Given the description of an element on the screen output the (x, y) to click on. 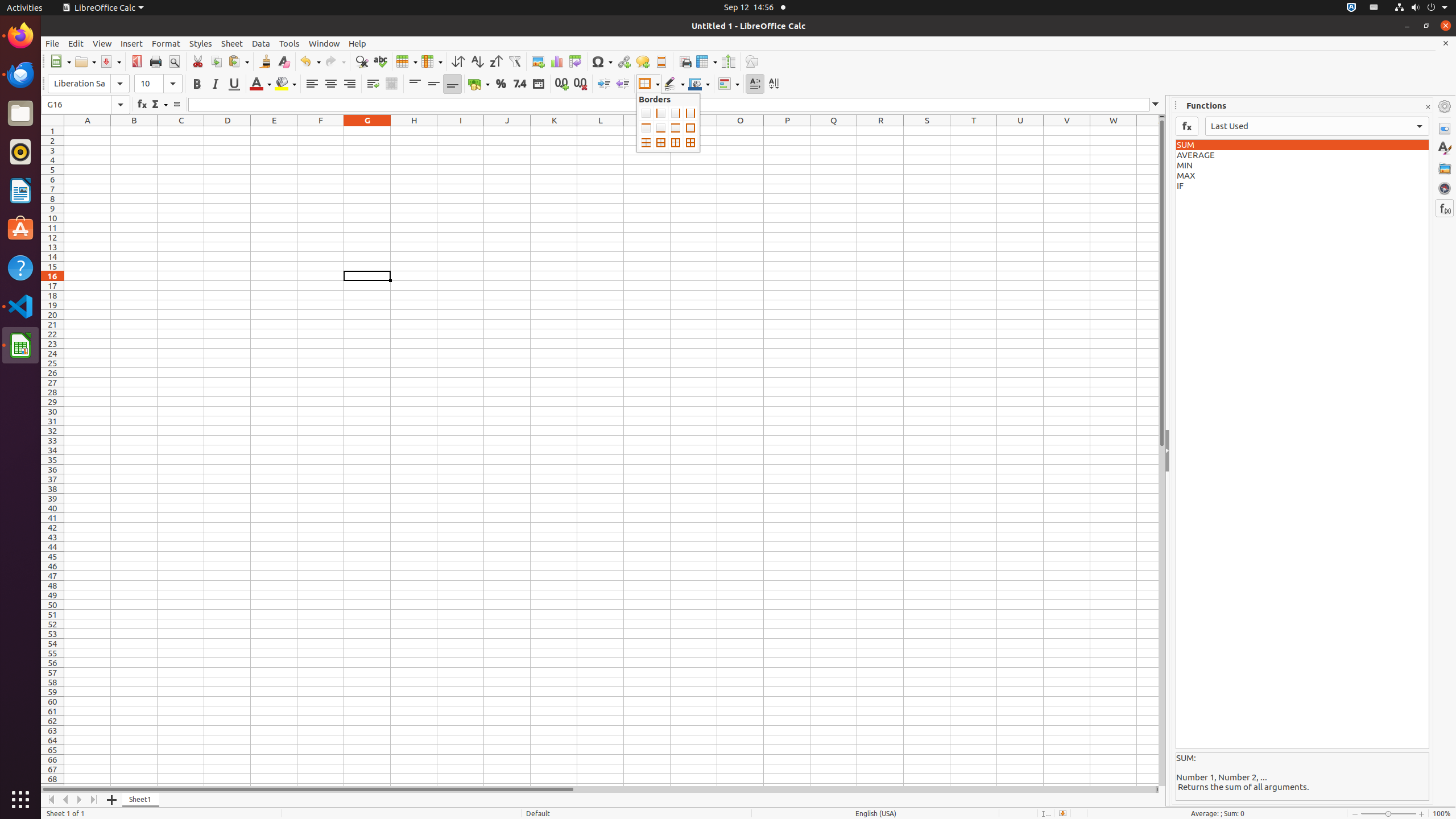
Insert Function into calculation sheet Element type: push-button (1186, 125)
View Element type: menu (102, 43)
Paste Element type: push-button (237, 61)
Format Element type: menu (165, 43)
:1.72/StatusNotifierItem Element type: menu (1350, 7)
